Given the description of an element on the screen output the (x, y) to click on. 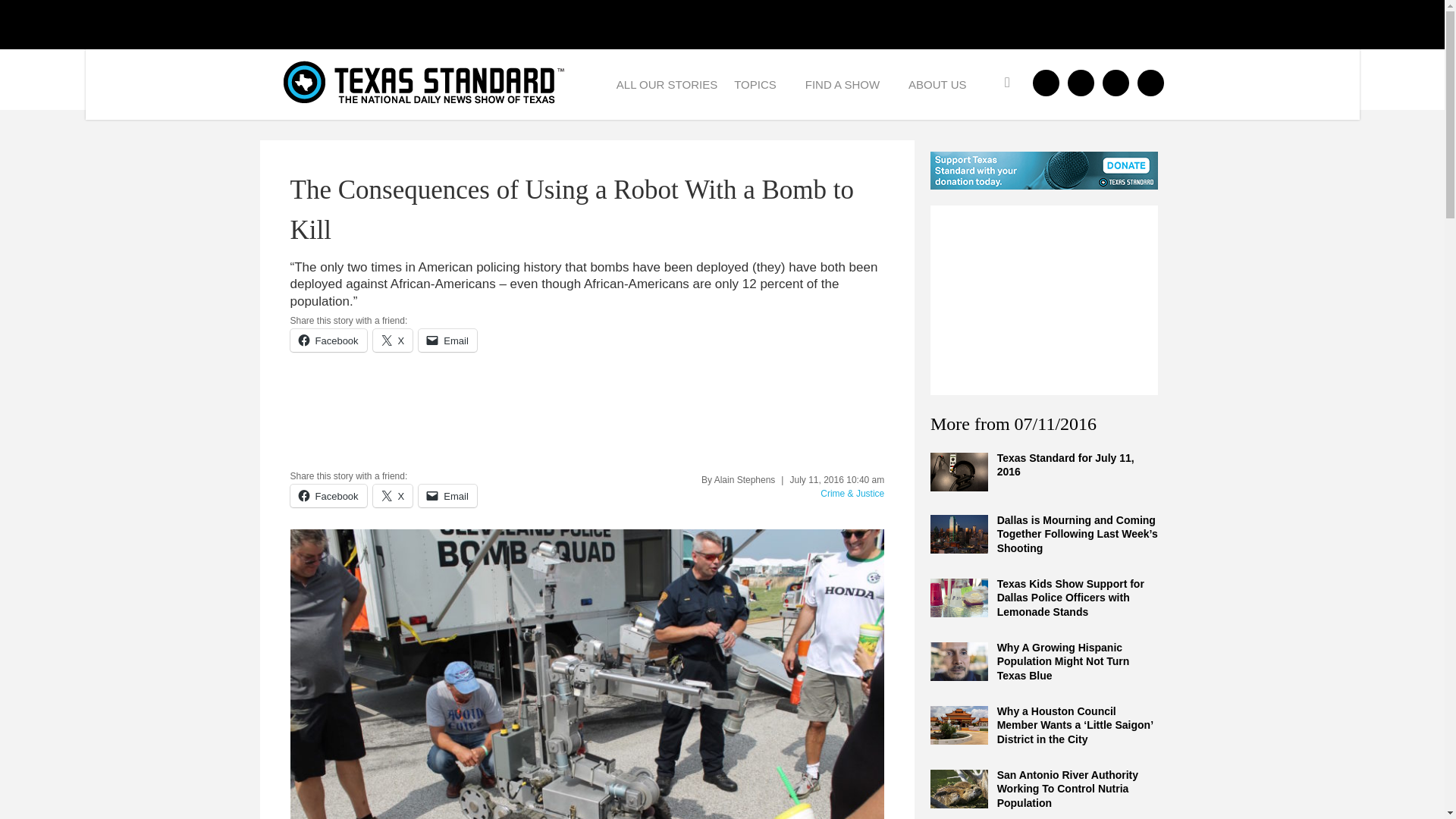
3rd party ad content (1043, 299)
Click to share on Facebook (327, 340)
Click to share on X (392, 495)
Click to email a link to a friend (448, 340)
Click to email a link to a friend (448, 495)
Click to share on X (392, 340)
TOPICS (761, 82)
ALL OUR STORIES (666, 82)
Click to share on Facebook (327, 495)
